Given the description of an element on the screen output the (x, y) to click on. 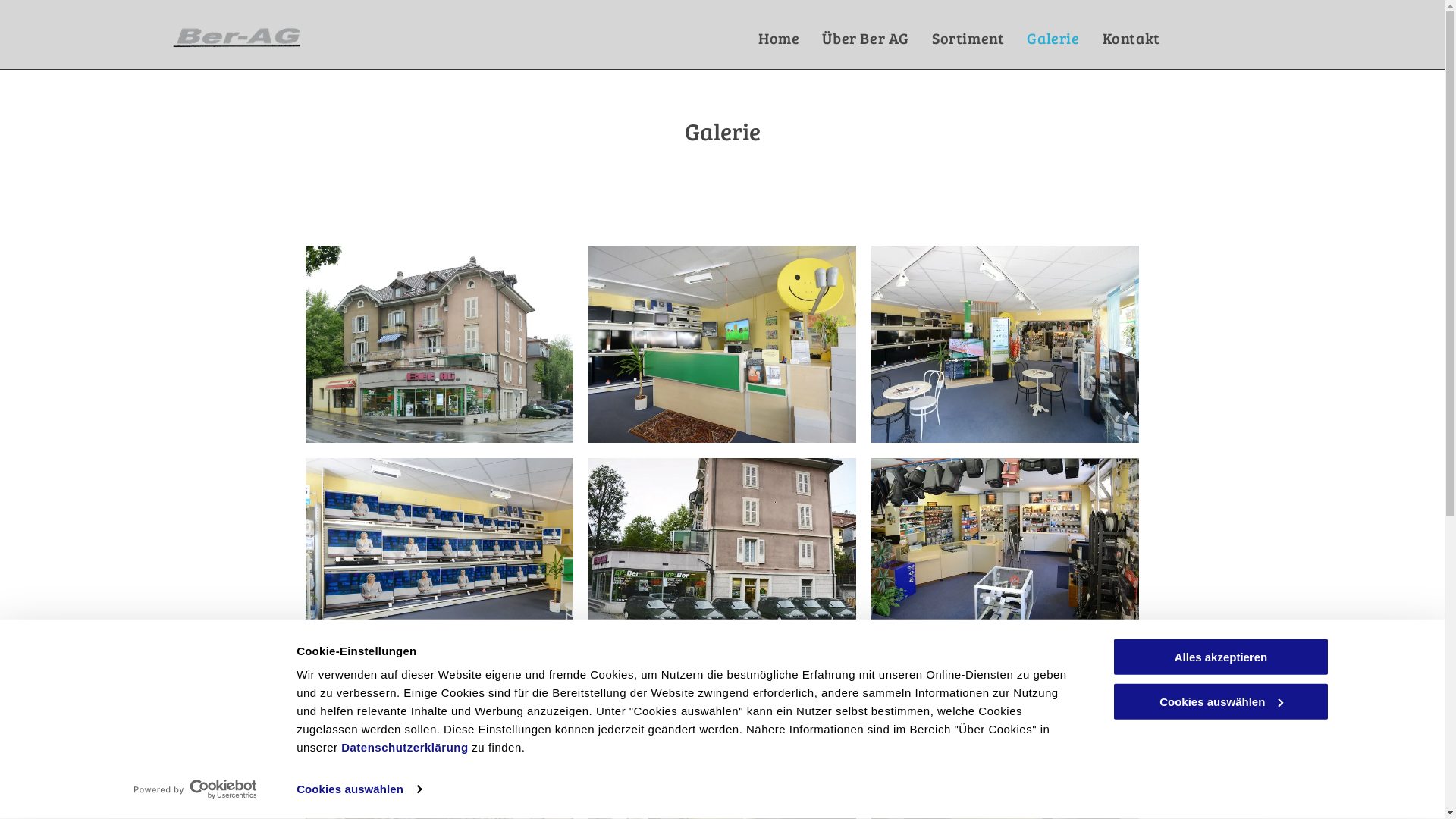
Galerie Element type: text (1052, 37)
Sortiment Element type: text (967, 37)
Home Element type: text (778, 37)
Kontakt Element type: text (1131, 37)
Alles akzeptieren Element type: text (1219, 656)
